Given the description of an element on the screen output the (x, y) to click on. 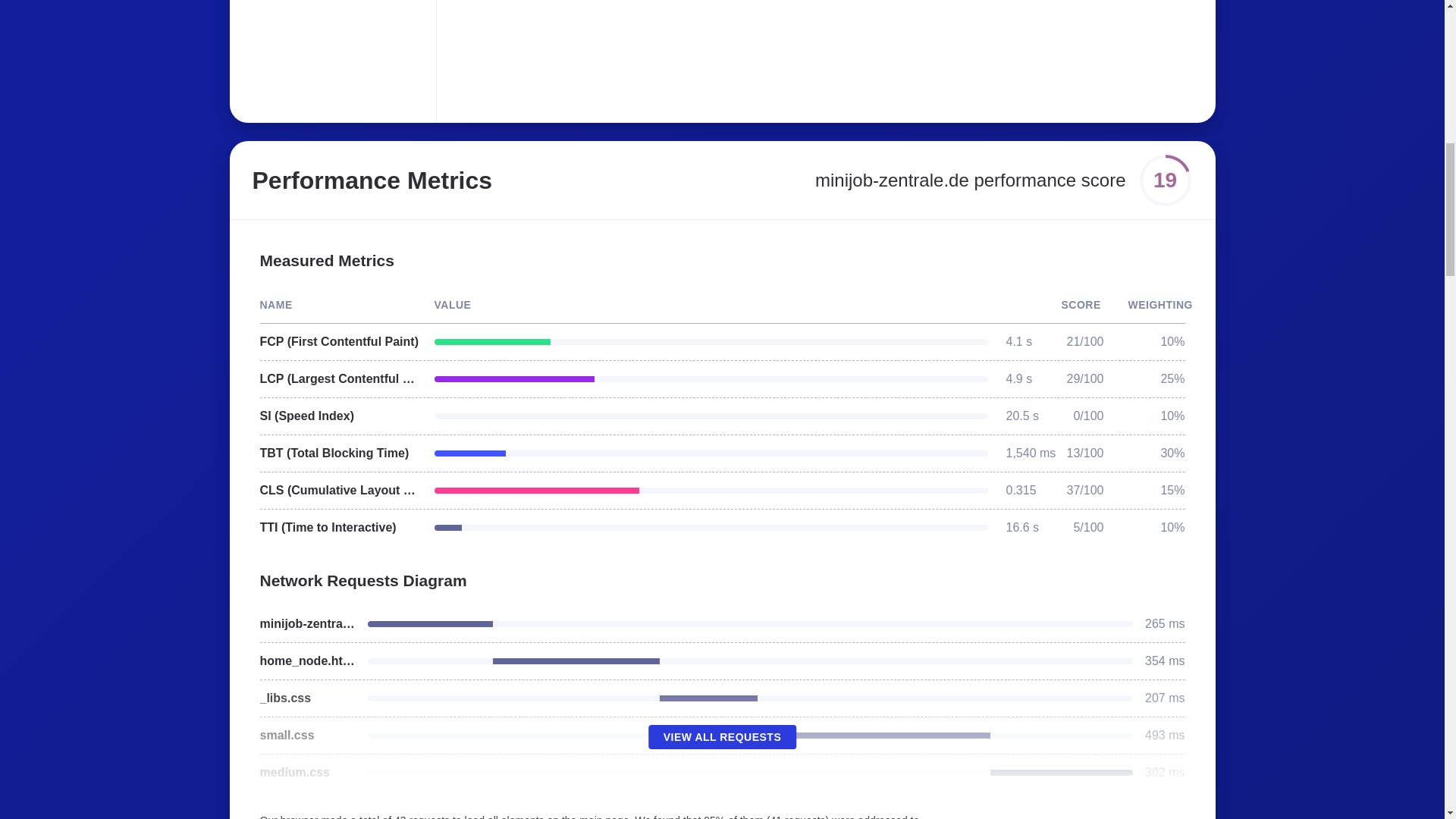
VIEW ALL REQUESTS (721, 736)
